Given the description of an element on the screen output the (x, y) to click on. 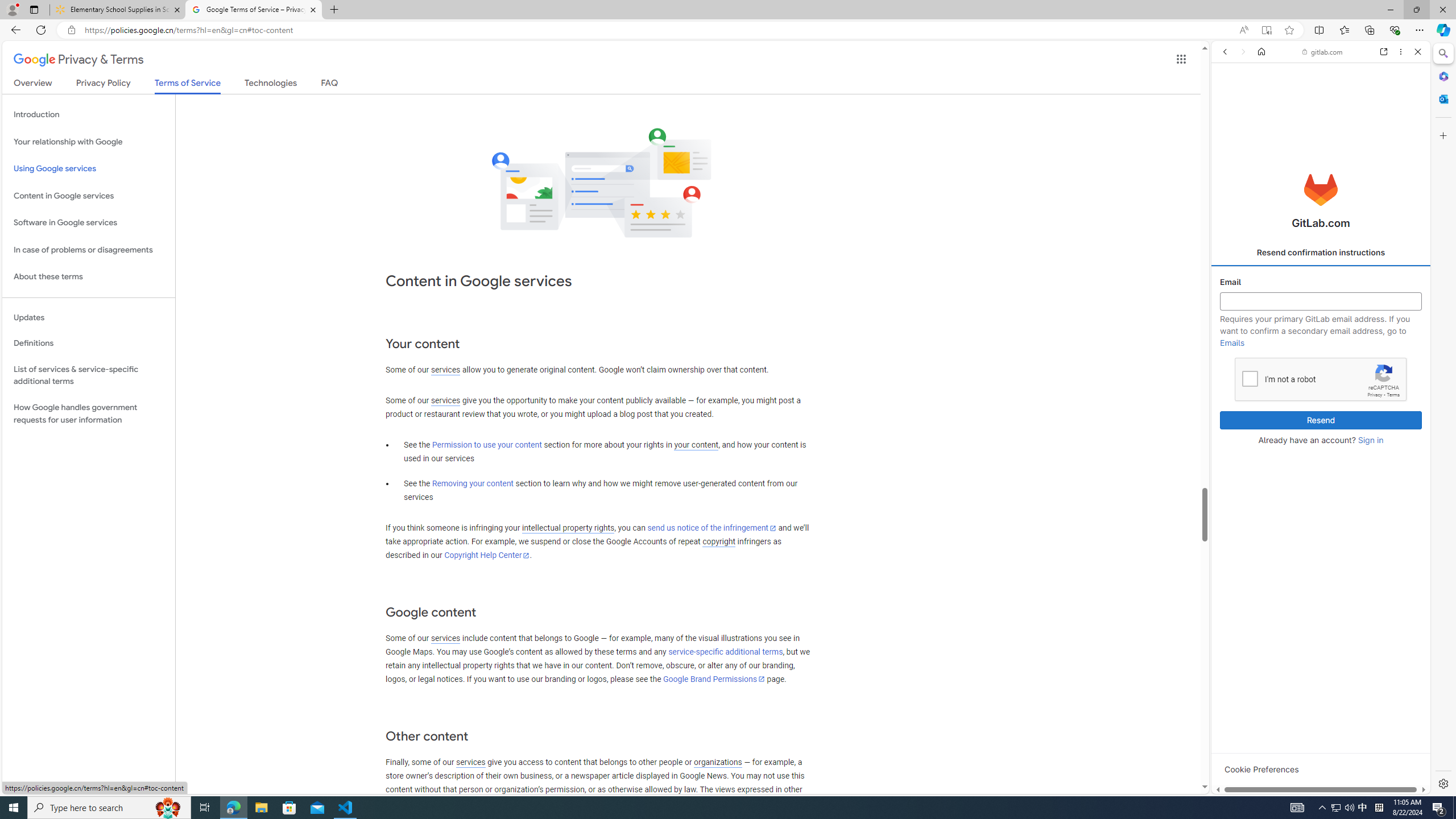
Search Filter, Search Tools (1348, 129)
Back (1225, 51)
Register Now (1320, 253)
Close (1417, 51)
Open link in new tab (1383, 51)
Sign in (1369, 439)
This site scope (1259, 102)
Terms (1393, 394)
Confirmation Page (1320, 389)
Close tab (312, 9)
Microsoft 365 (1442, 76)
Tab actions menu (33, 9)
Copilot (Ctrl+Shift+.) (1442, 29)
Search the web (1326, 78)
